Given the description of an element on the screen output the (x, y) to click on. 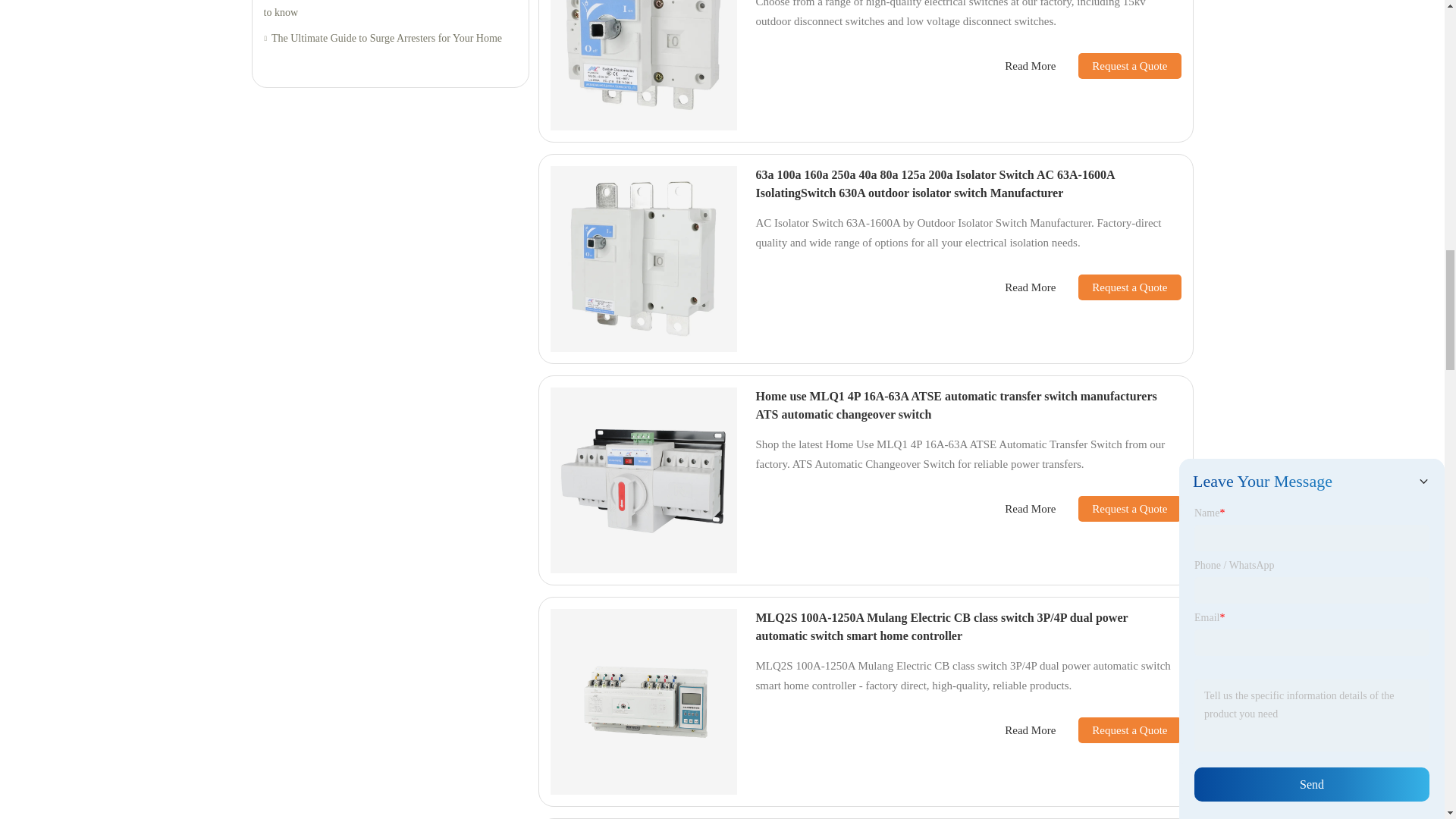
The Ultimate Guide to Surge Arresters for Your Home (389, 38)
